Given the description of an element on the screen output the (x, y) to click on. 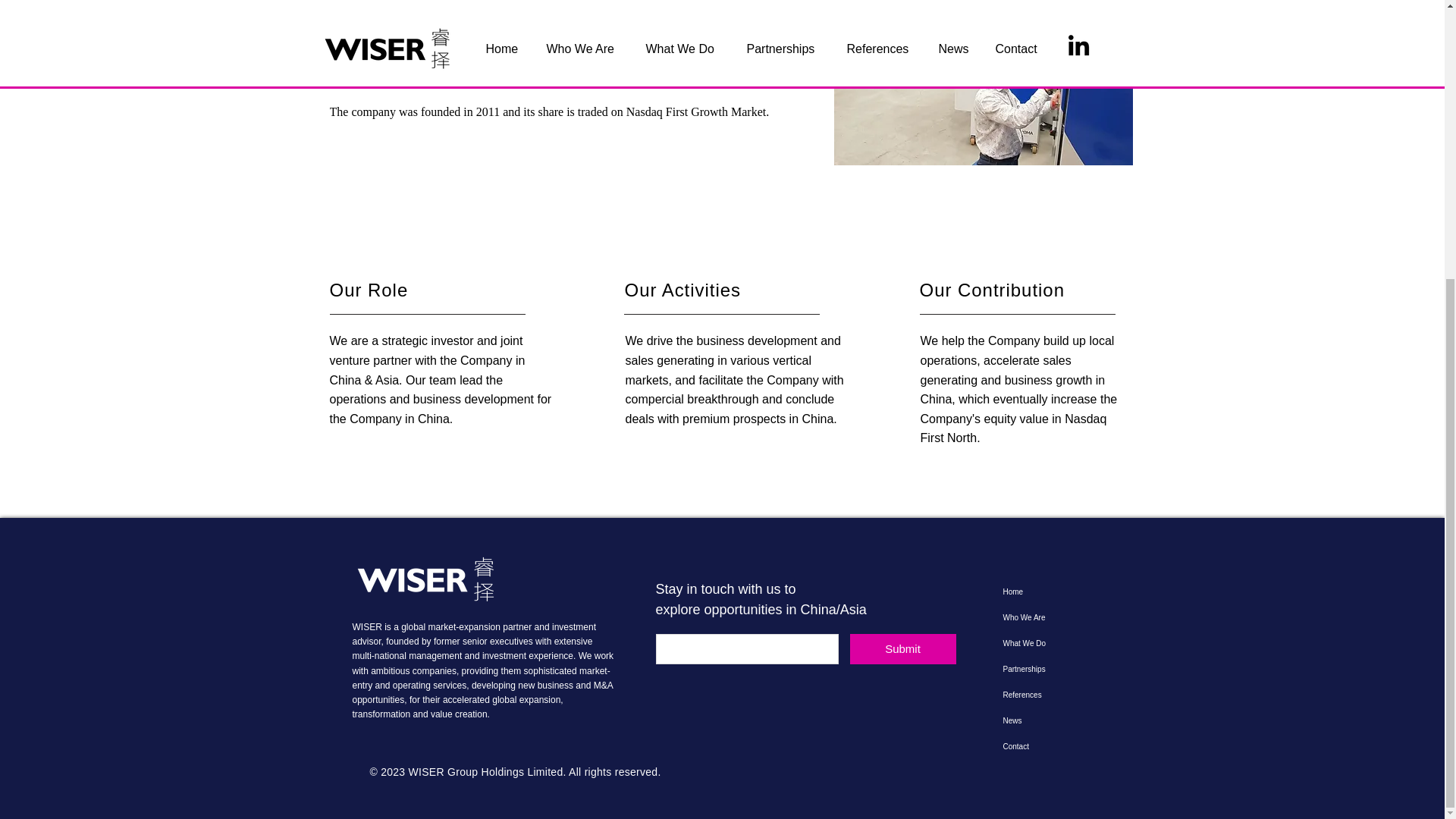
Who We Are (1047, 617)
News (1047, 720)
Submit (901, 648)
Partnerships (1047, 669)
Home (1047, 592)
Contact (1047, 746)
opticept.jpeg (983, 82)
